Given the description of an element on the screen output the (x, y) to click on. 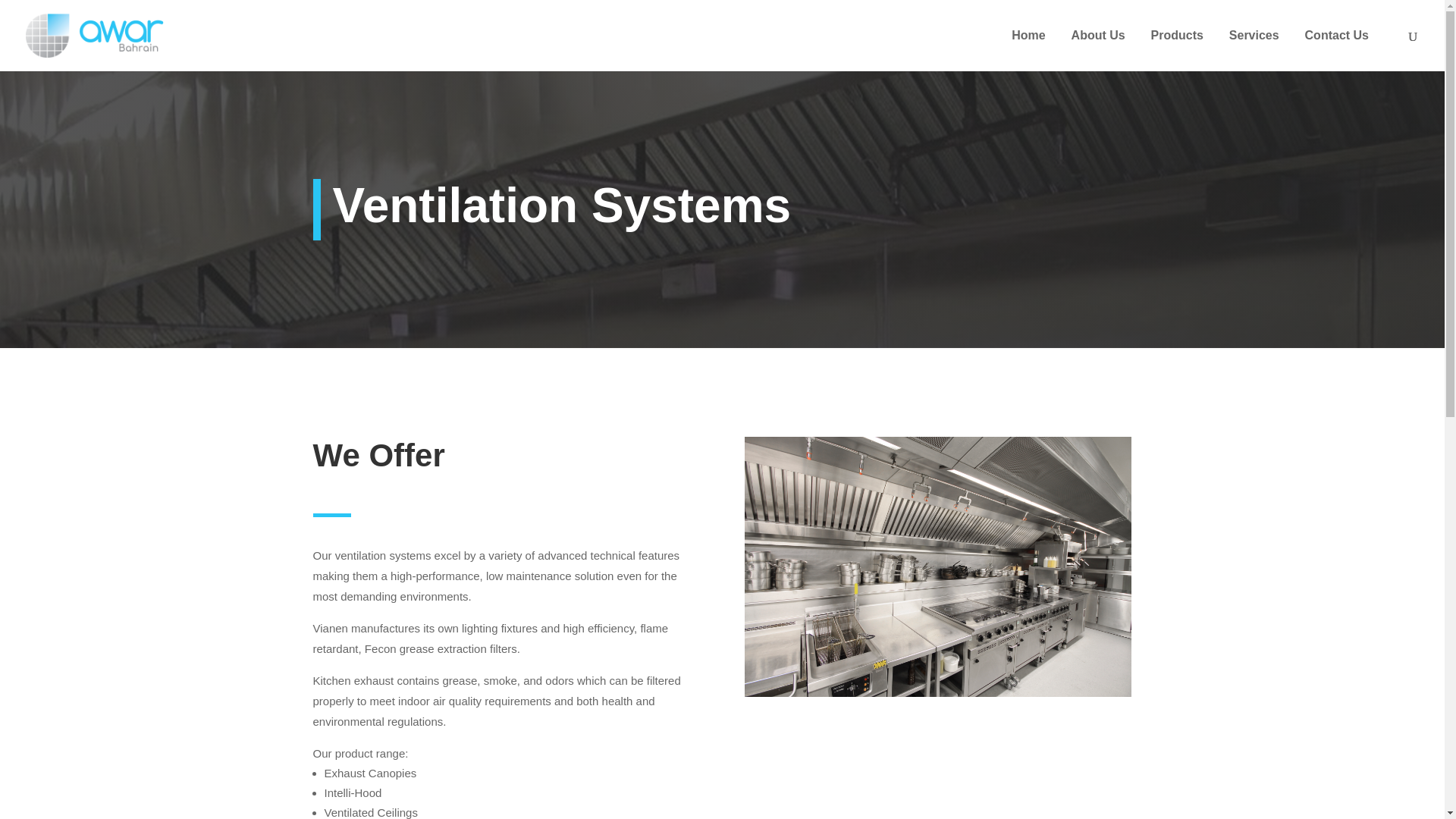
Contact Us (1336, 50)
About Us (1098, 50)
Services (1253, 50)
Products (1177, 50)
